Given the description of an element on the screen output the (x, y) to click on. 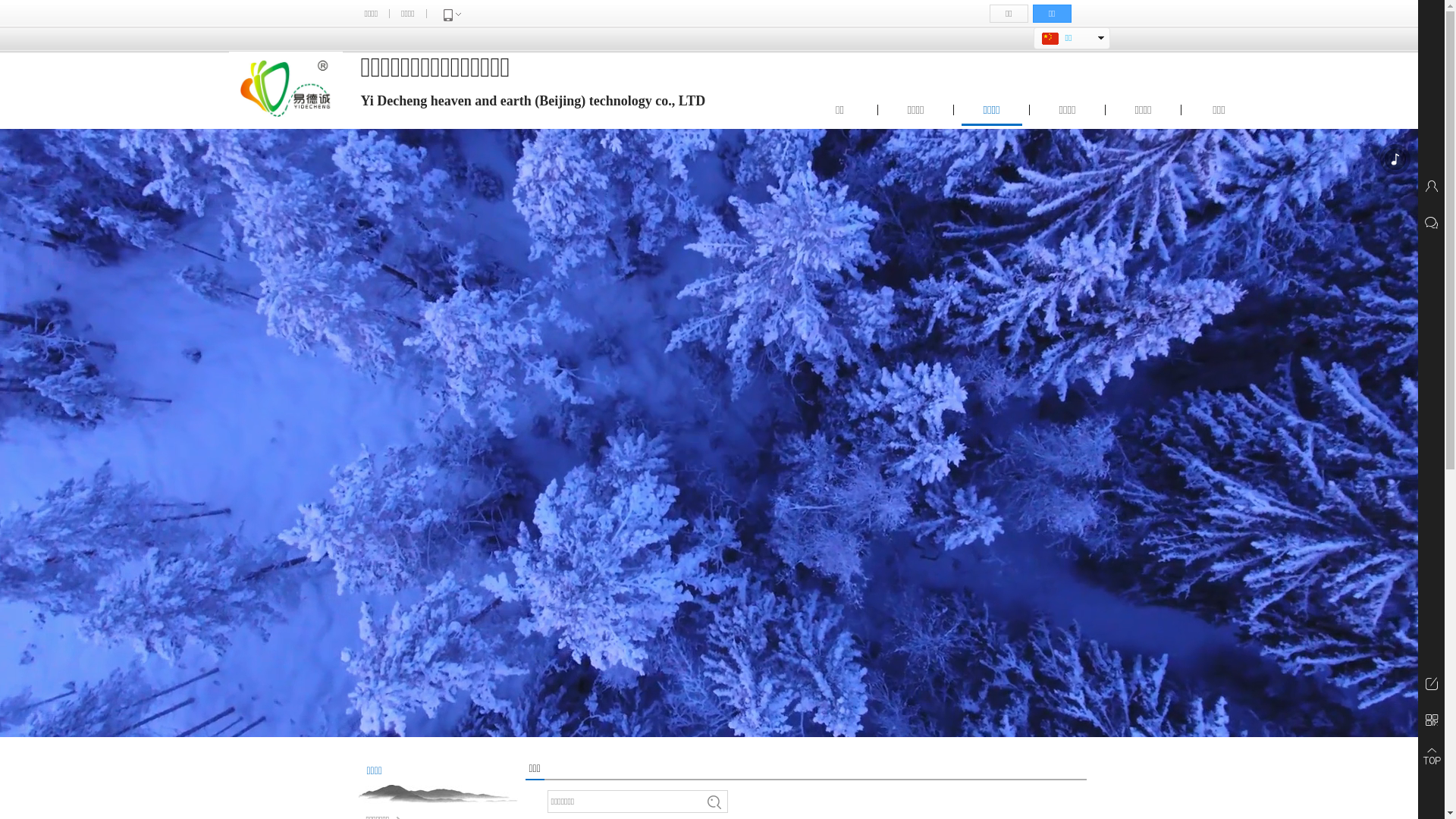
ydckj Element type: hover (285, 88)
  Element type: text (1068, 58)
